Given the description of an element on the screen output the (x, y) to click on. 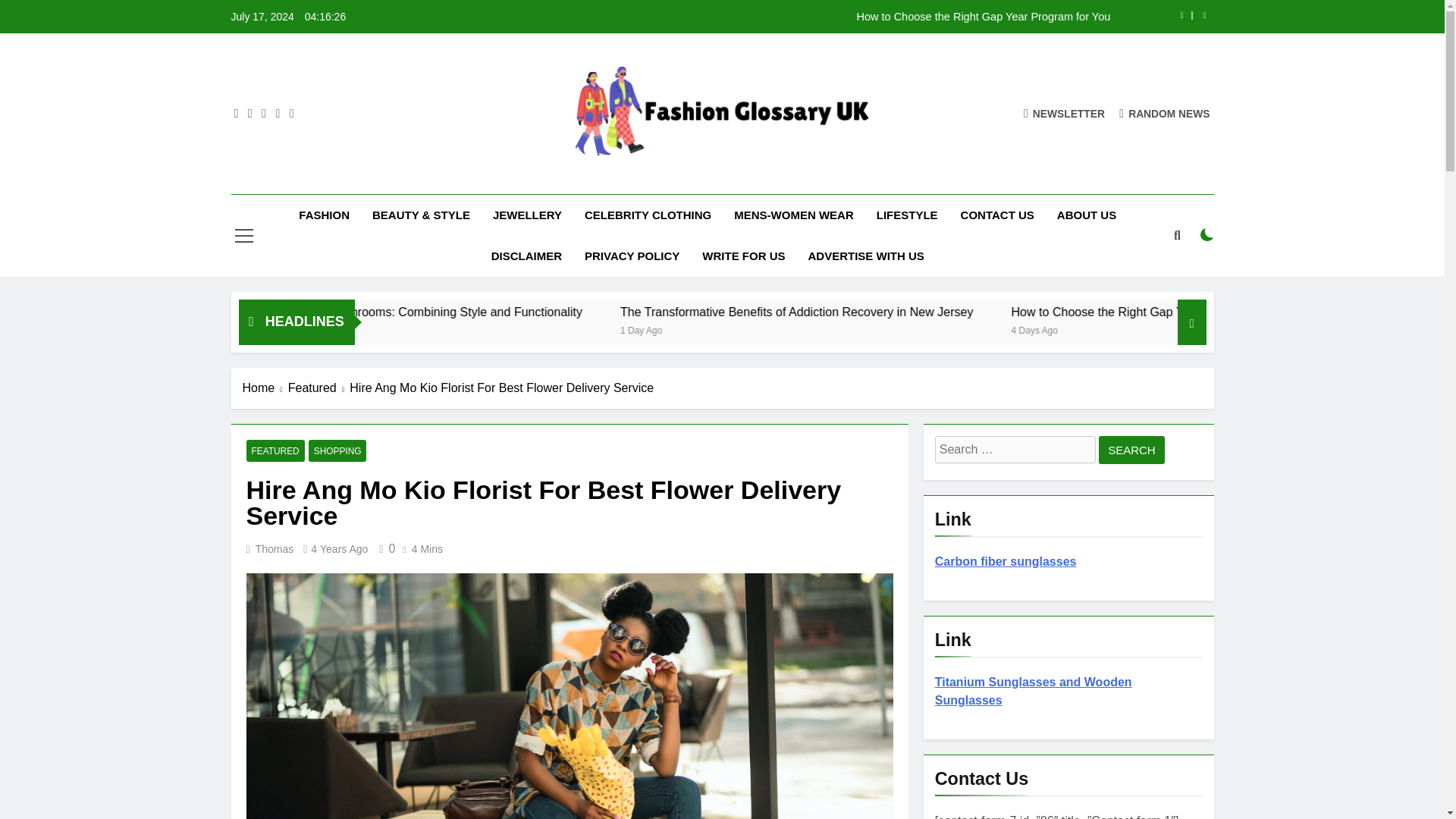
How to Choose the Right Gap Year Program for You (817, 16)
RANDOM NEWS (1164, 113)
on (1206, 234)
Fashion Glossary UK (636, 180)
PRIVACY POLICY (631, 255)
MENS-WOMEN WEAR (793, 214)
CONTACT US (997, 214)
Search (1131, 449)
How to Choose the Right Gap Year Program for You (817, 16)
NEWSLETTER (1064, 113)
CELEBRITY CLOTHING (647, 214)
JEWELLERY (527, 214)
